Given the description of an element on the screen output the (x, y) to click on. 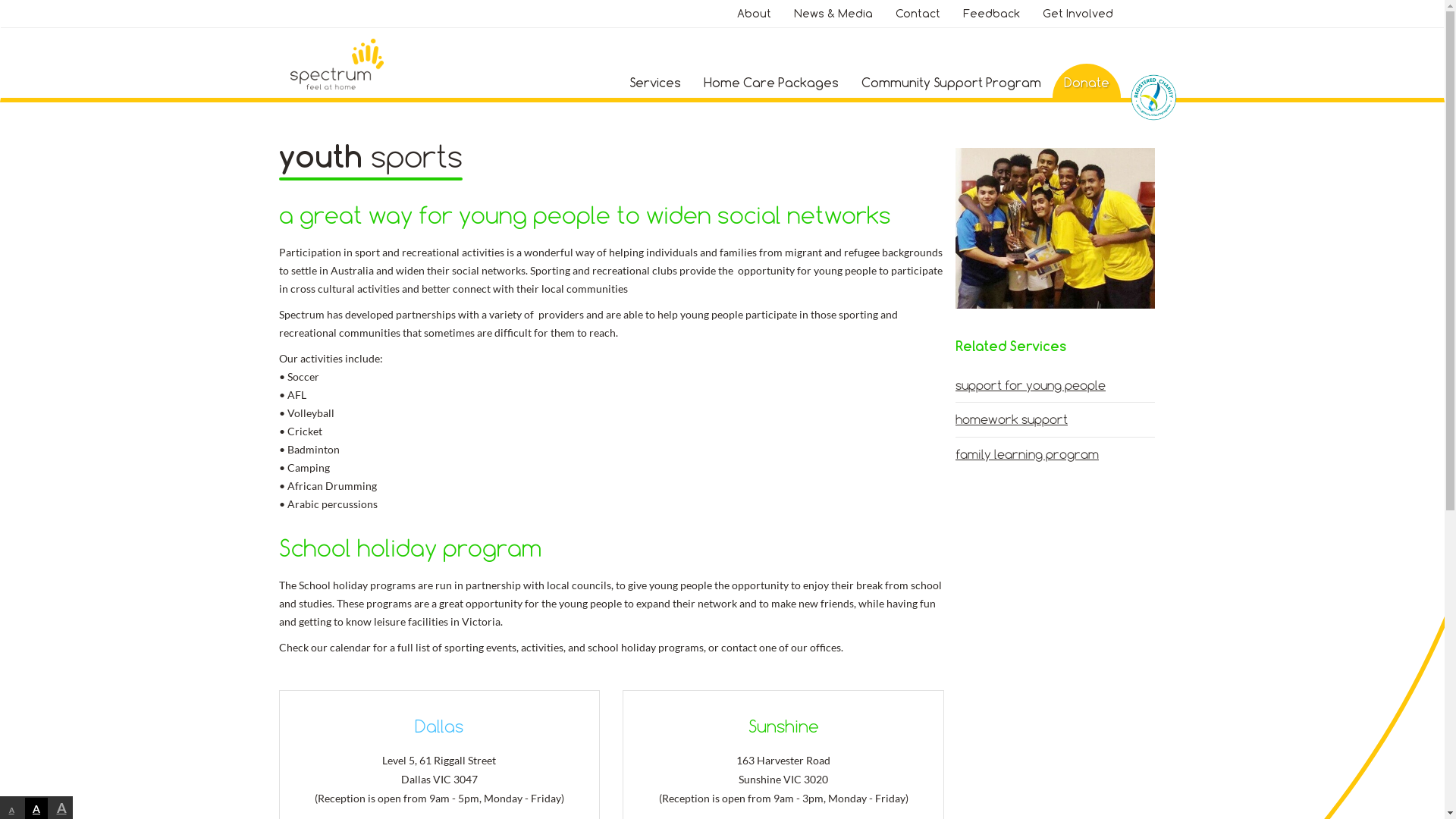
Services Element type: text (654, 82)
Home Care Packages Element type: text (770, 82)
family learning program Element type: text (1054, 453)
About Element type: text (754, 22)
Feedback Element type: text (991, 22)
Donate Element type: text (1085, 82)
youth sports 1 Element type: hover (1054, 227)
News & Media Element type: text (832, 22)
Contact Element type: text (916, 22)
Get Involved Element type: text (1076, 22)
homework support Element type: text (1054, 419)
Community Support Program Element type: text (951, 82)
support for young people Element type: text (1054, 384)
